Given the description of an element on the screen output the (x, y) to click on. 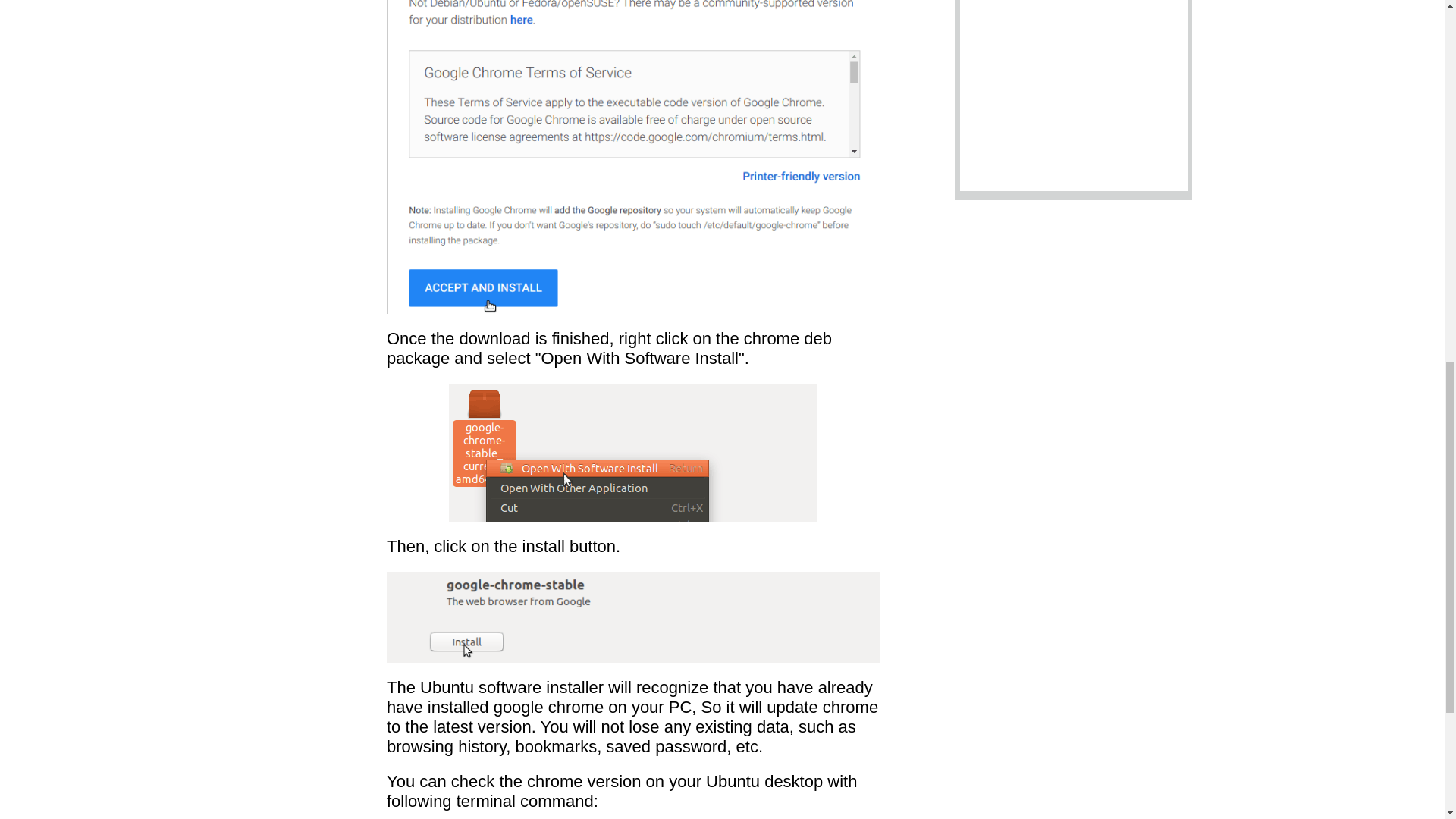
Advertisement (1073, 95)
